Given the description of an element on the screen output the (x, y) to click on. 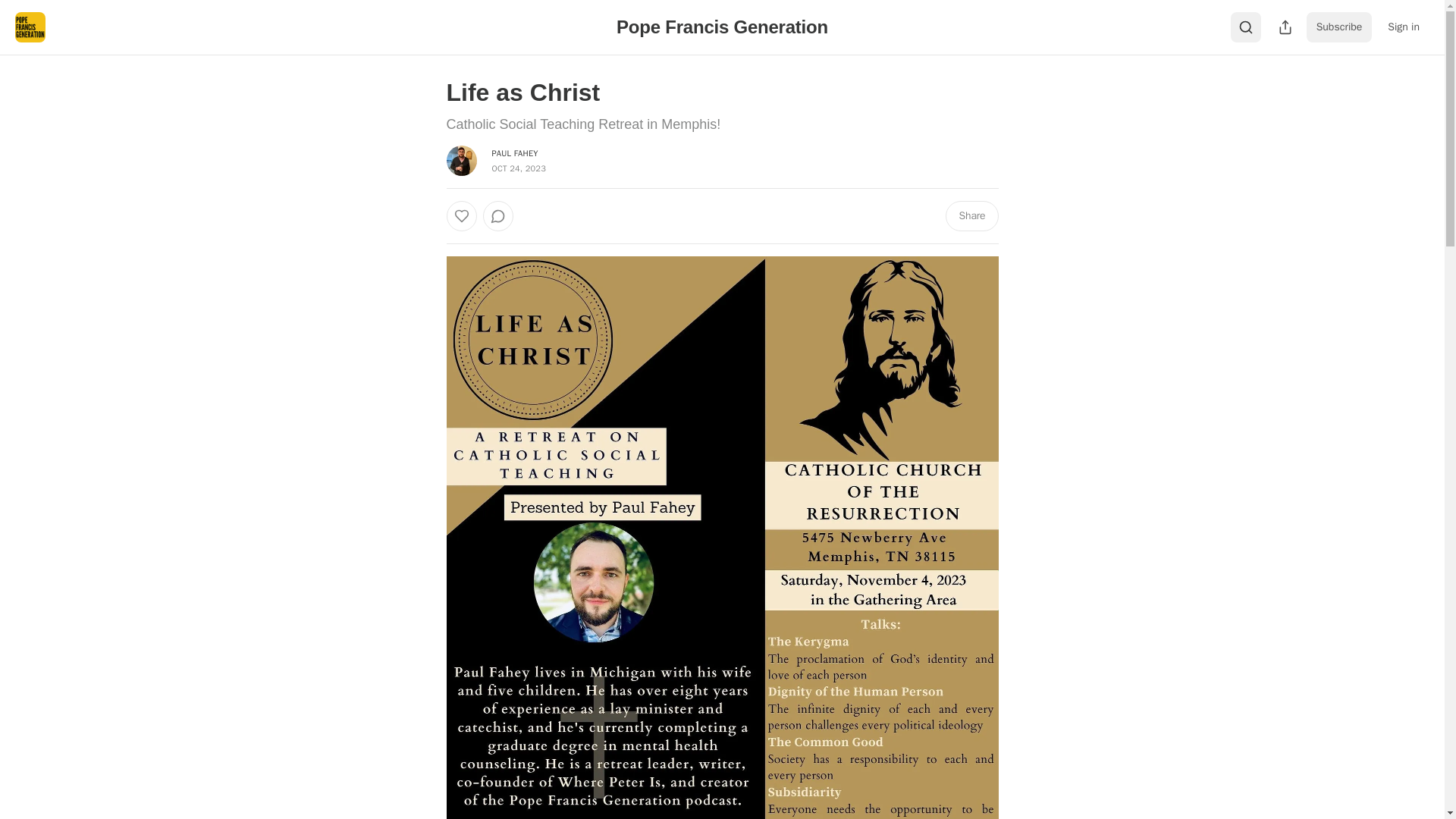
Sign in (1403, 27)
Subscribe (1339, 27)
PAUL FAHEY (514, 153)
Pope Francis Generation (721, 26)
Share (970, 215)
